Given the description of an element on the screen output the (x, y) to click on. 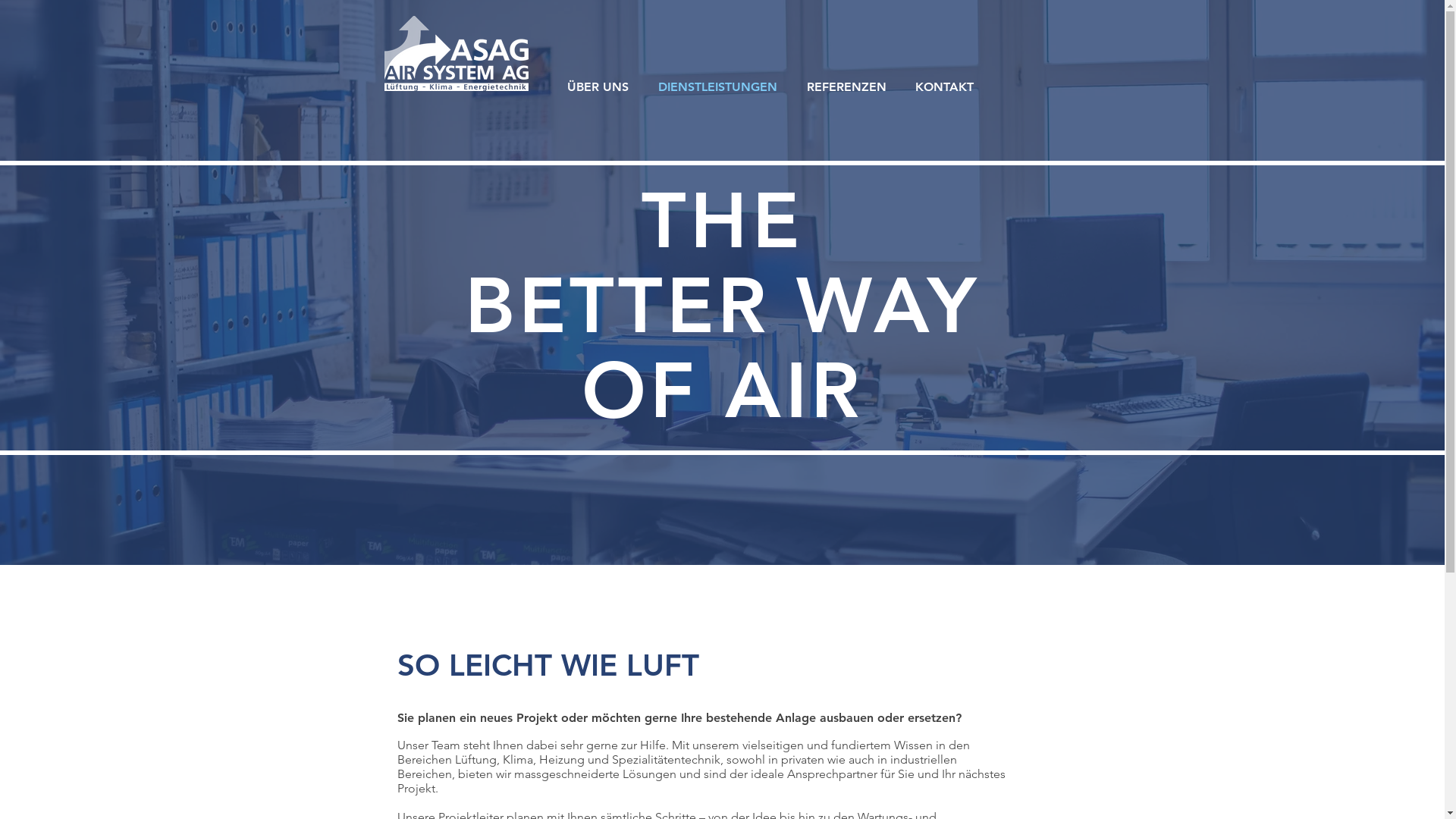
KONTAKT Element type: text (944, 87)
DIENSTLEISTUNGEN Element type: text (717, 87)
REFERENZEN Element type: text (845, 87)
